Given the description of an element on the screen output the (x, y) to click on. 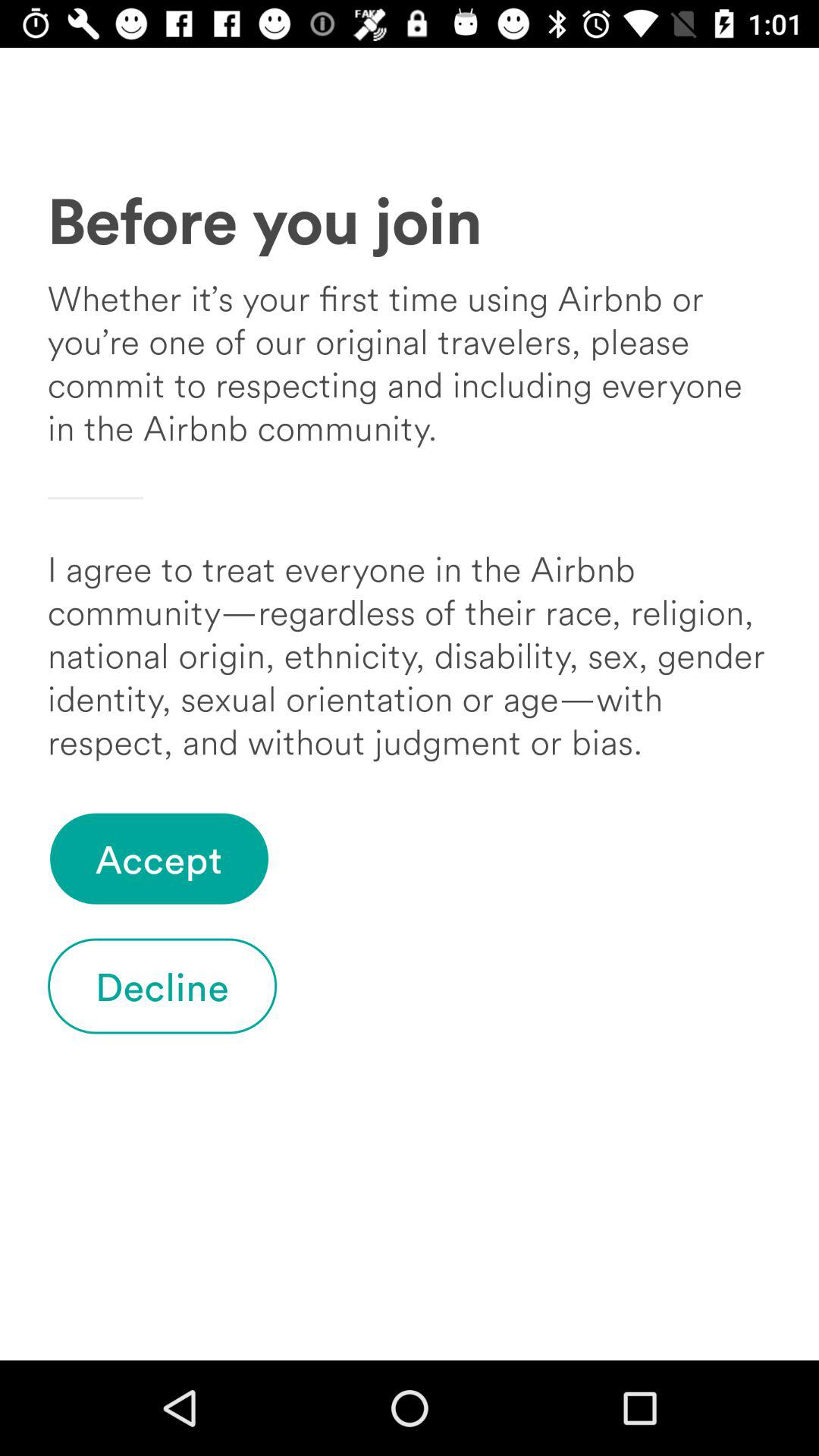
launch the icon below i agree to icon (158, 858)
